Given the description of an element on the screen output the (x, y) to click on. 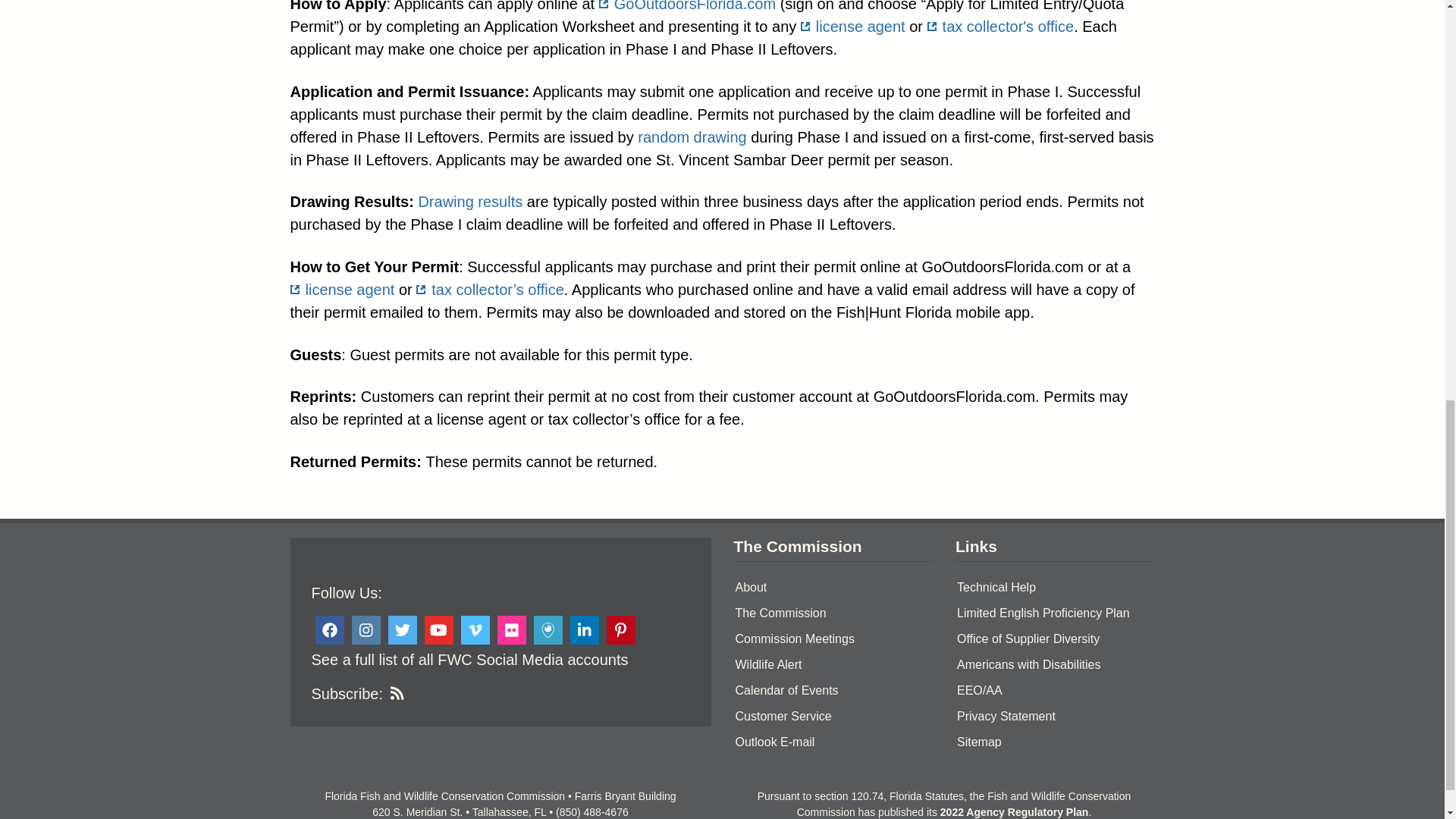
Drawing Results (691, 136)
Drawing Results (469, 201)
2022 Regulatory Plan (1014, 811)
